Given the description of an element on the screen output the (x, y) to click on. 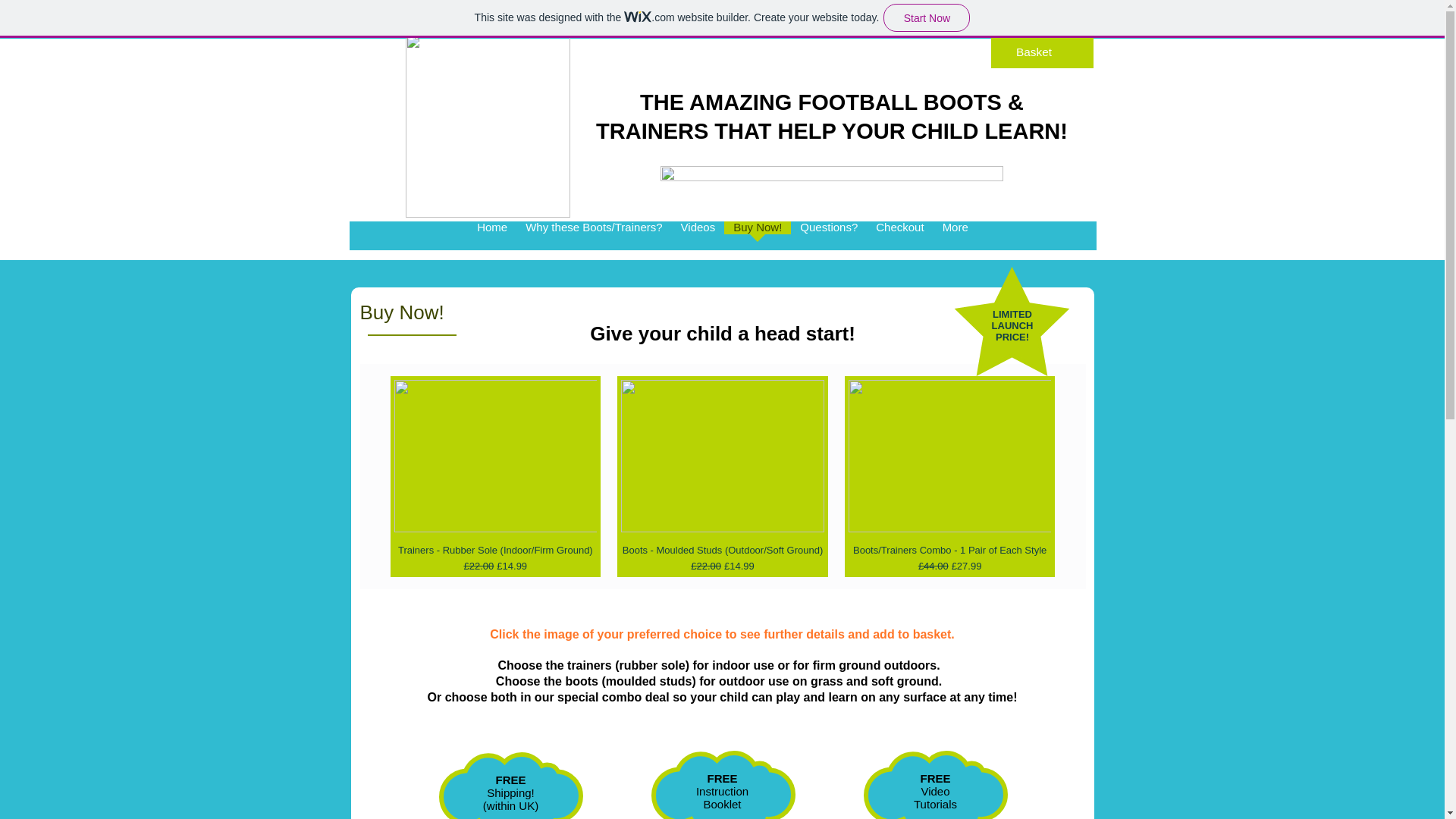
Buy Now! (756, 240)
Basket (1042, 51)
Home (491, 240)
Videos (698, 240)
Questions? (828, 240)
Checkout (899, 240)
Basket (1042, 51)
